Given the description of an element on the screen output the (x, y) to click on. 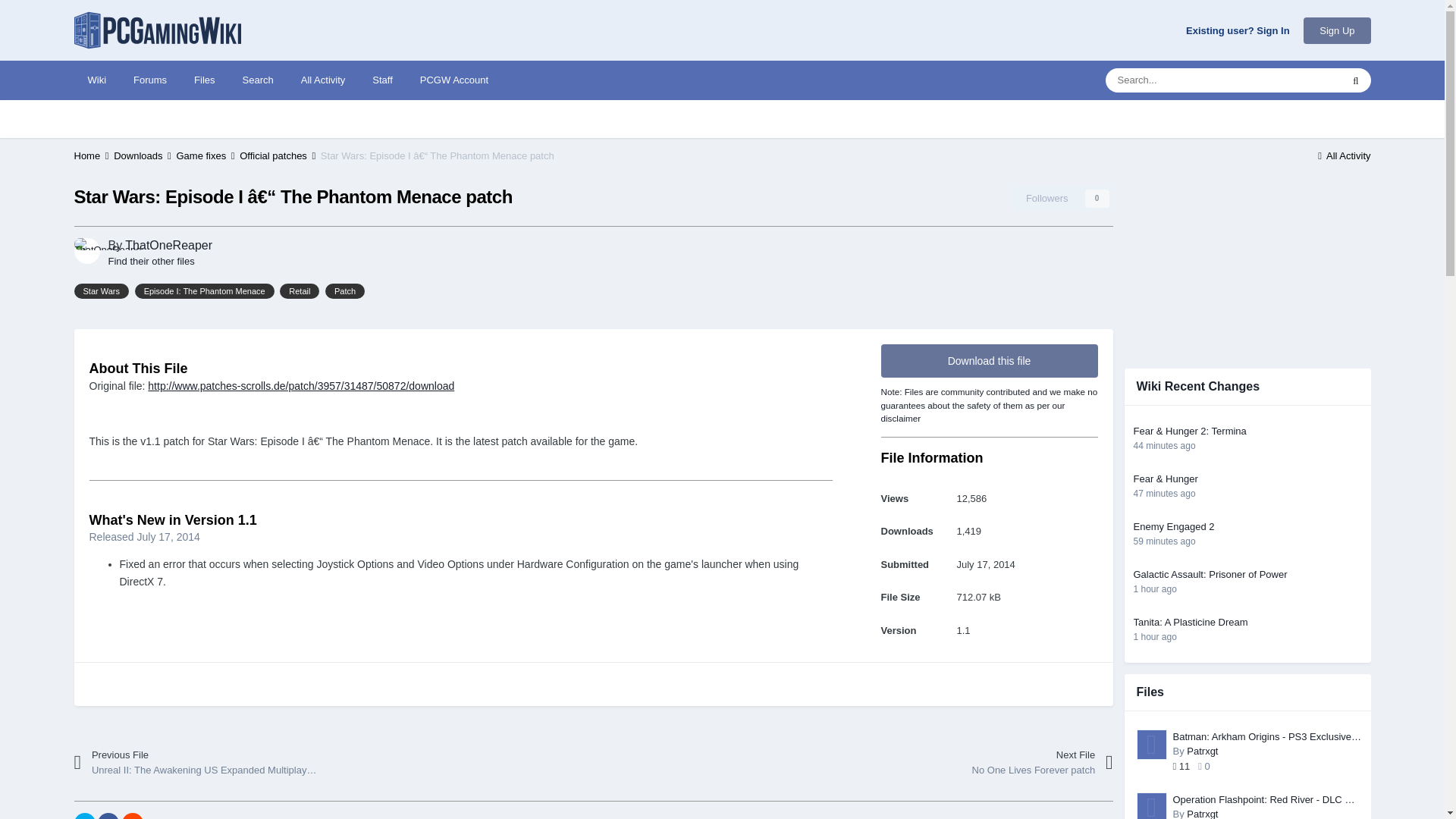
Official patches (278, 155)
Find their other files (150, 260)
Episode I: The Phantom Menace (205, 290)
Game fixes (205, 155)
Wiki (97, 79)
Find other content tagged with 'Retail' (298, 290)
Previous File (206, 762)
Home (93, 155)
ThatOneReaper (168, 245)
Forums (149, 79)
